Given the description of an element on the screen output the (x, y) to click on. 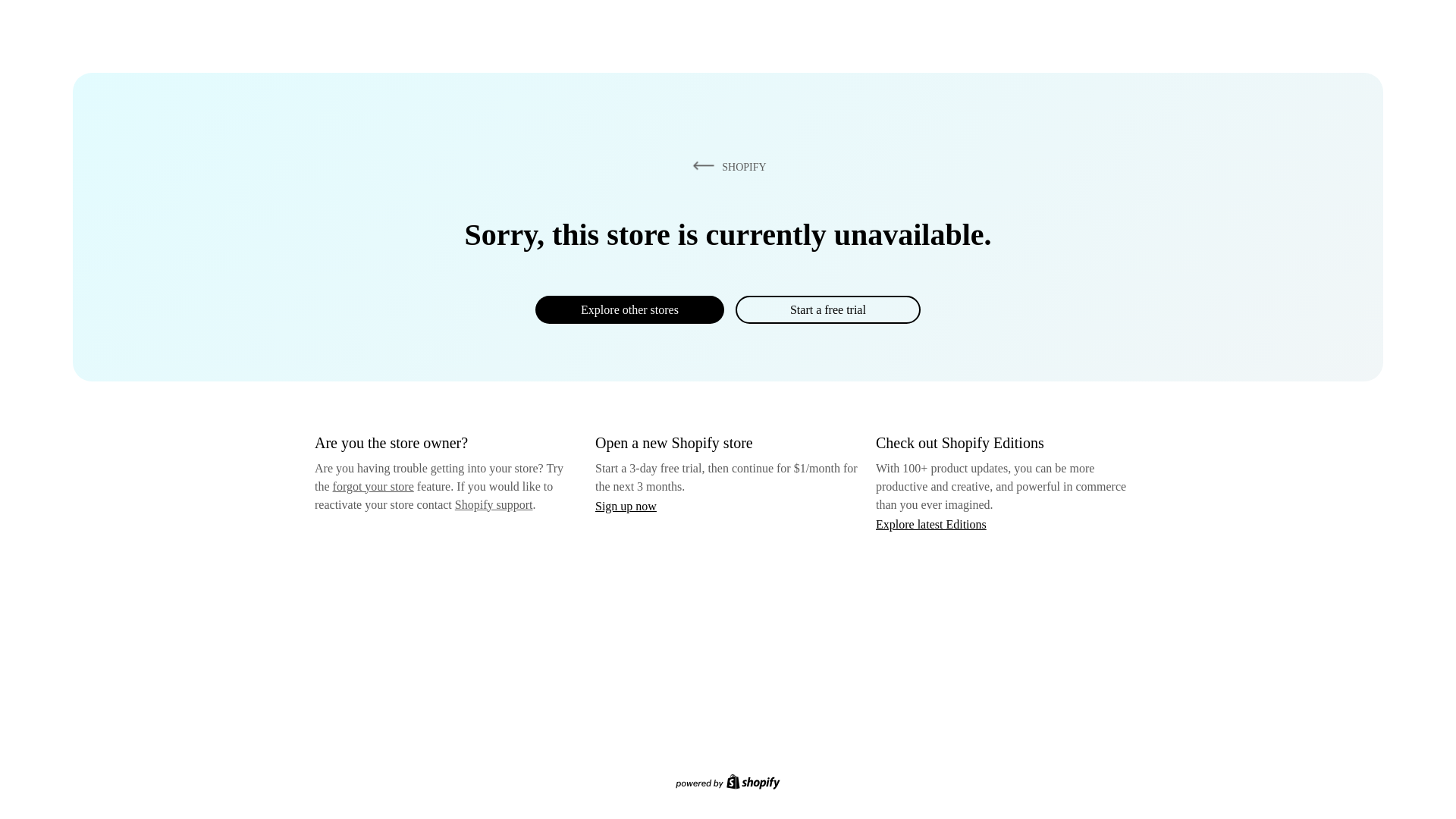
Explore other stores (629, 309)
Shopify support (493, 504)
SHOPIFY (726, 166)
Explore latest Editions (931, 523)
forgot your store (373, 486)
Start a free trial (827, 309)
Sign up now (625, 505)
